Given the description of an element on the screen output the (x, y) to click on. 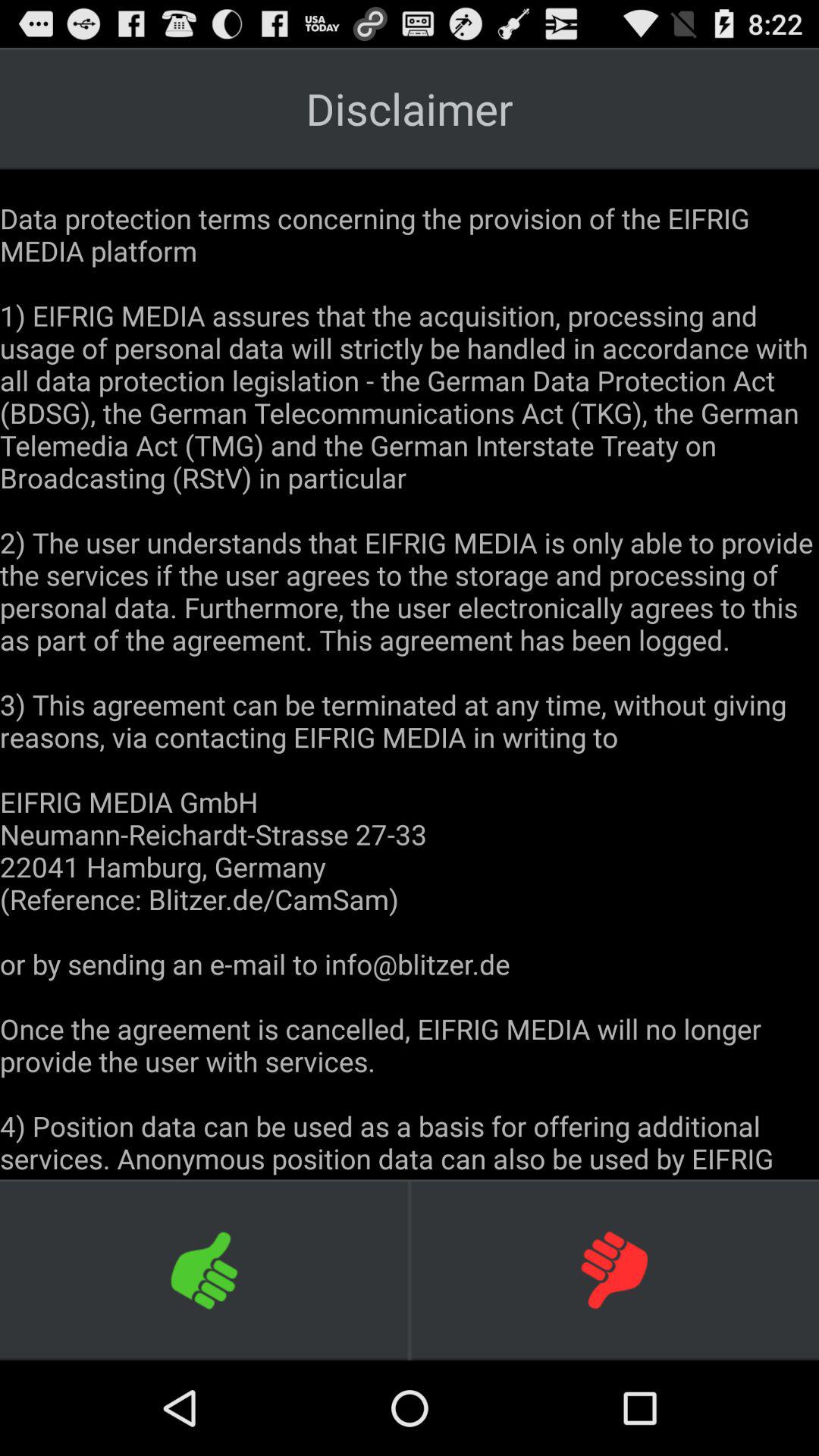
leave down vote (614, 1269)
